Given the description of an element on the screen output the (x, y) to click on. 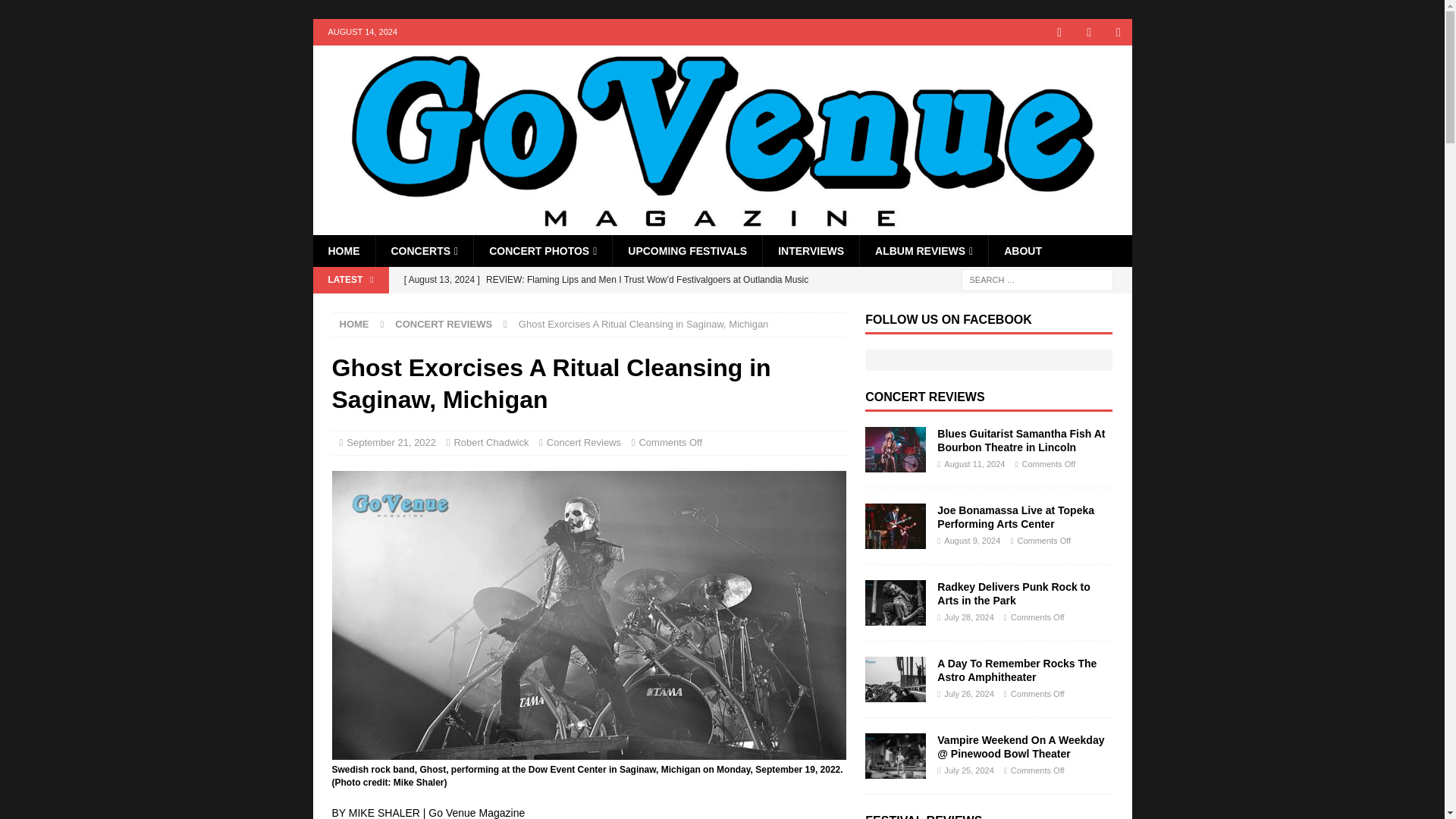
HOME (354, 324)
September 21, 2022 (390, 441)
INTERVIEWS (810, 250)
HOME (343, 250)
CONCERT REVIEWS (443, 324)
Robert Chadwick (490, 441)
Search (56, 11)
CONCERTS (423, 250)
Concert Reviews (584, 441)
UPCOMING FESTIVALS (686, 250)
